Given the description of an element on the screen output the (x, y) to click on. 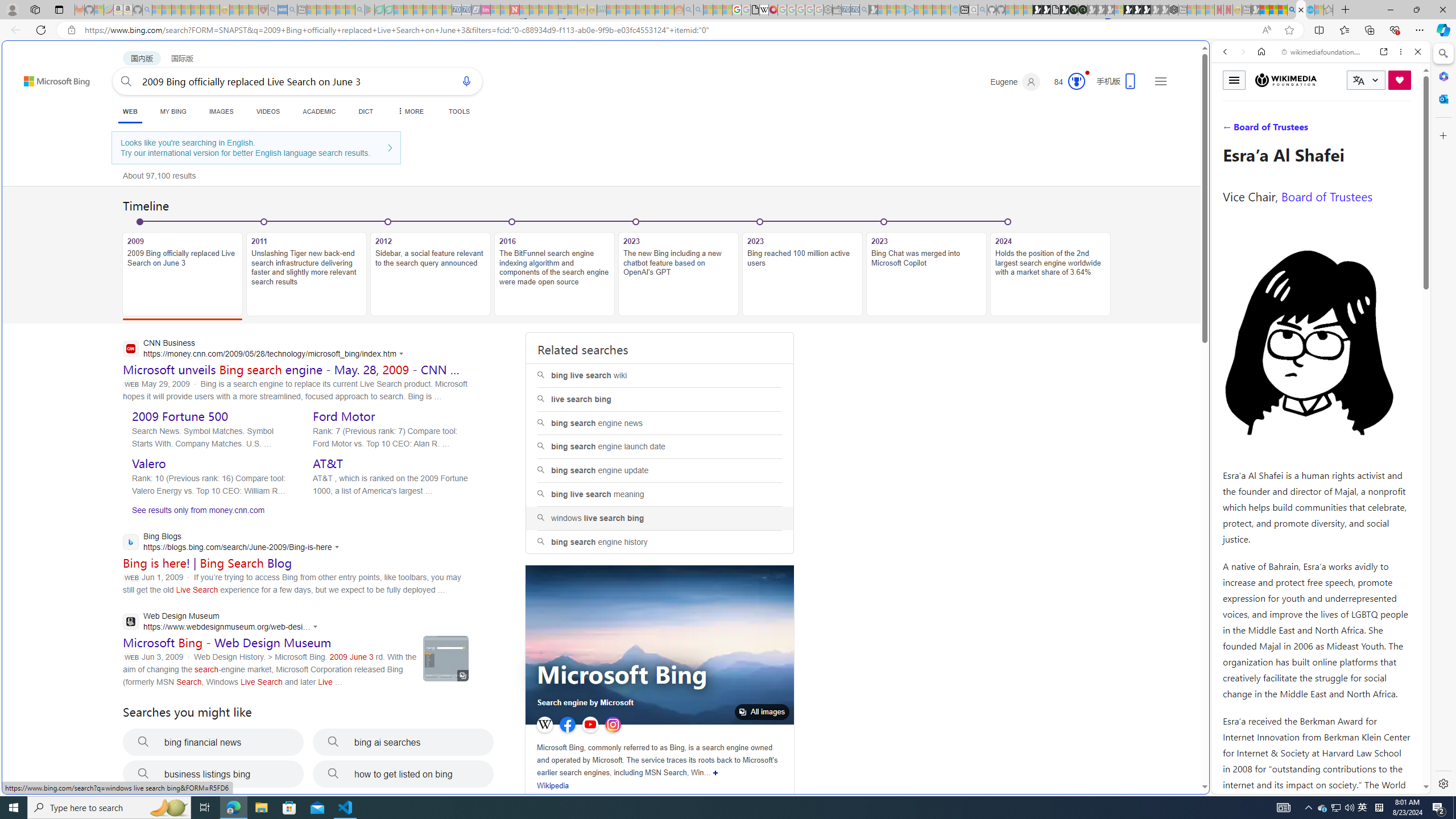
Settings - Sleeping (827, 9)
Home | Sky Blue Bikes - Sky Blue Bikes - Sleeping (954, 9)
2023 Bing reached 100 million active users (801, 273)
